Given the description of an element on the screen output the (x, y) to click on. 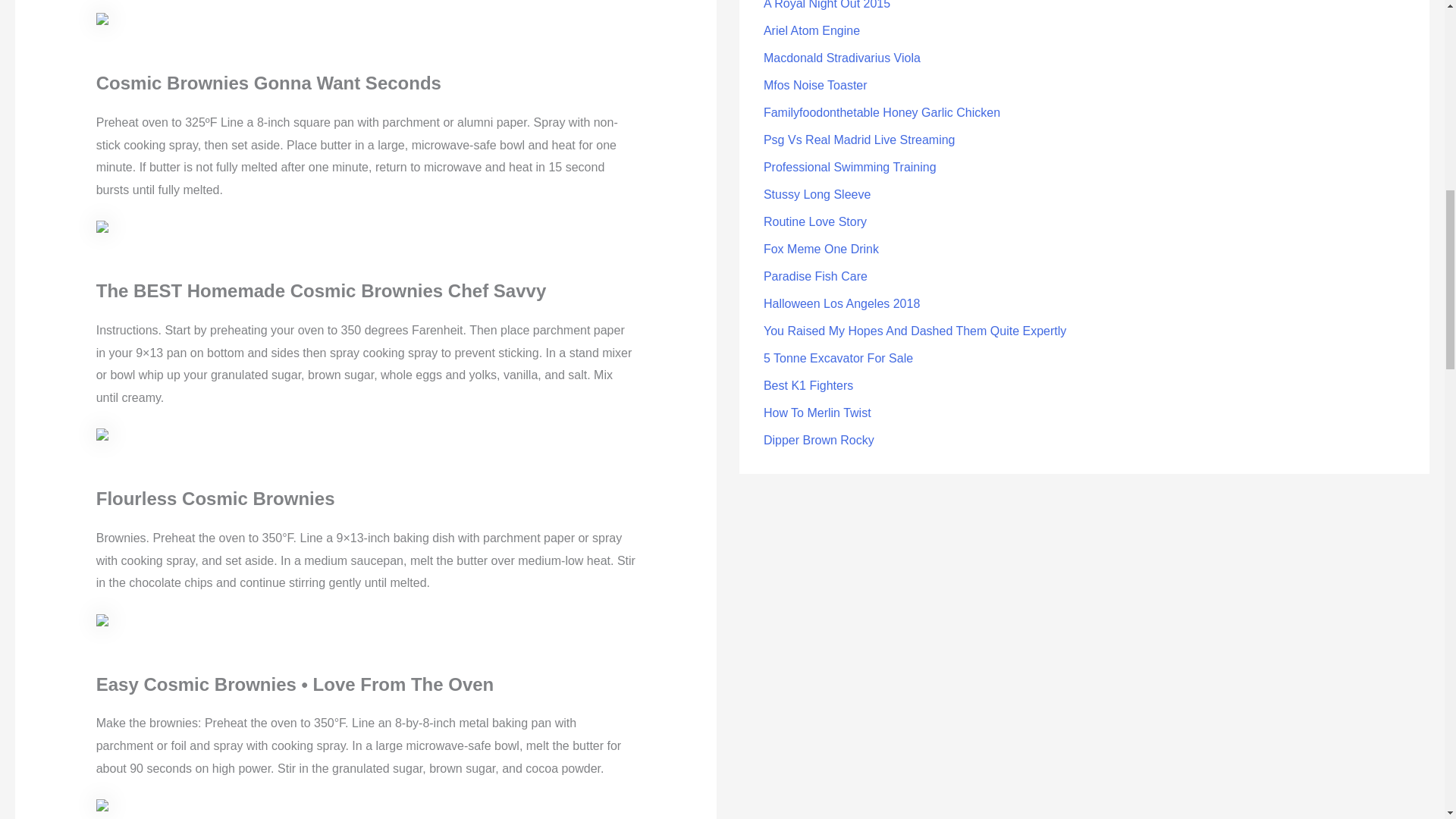
Ariel Atom Engine (811, 30)
Macdonald Stradivarius Viola (841, 57)
A Royal Night Out 2015 (825, 4)
Mfos Noise Toaster (814, 84)
Familyfoodonthetable Honey Garlic Chicken (881, 112)
